Given the description of an element on the screen output the (x, y) to click on. 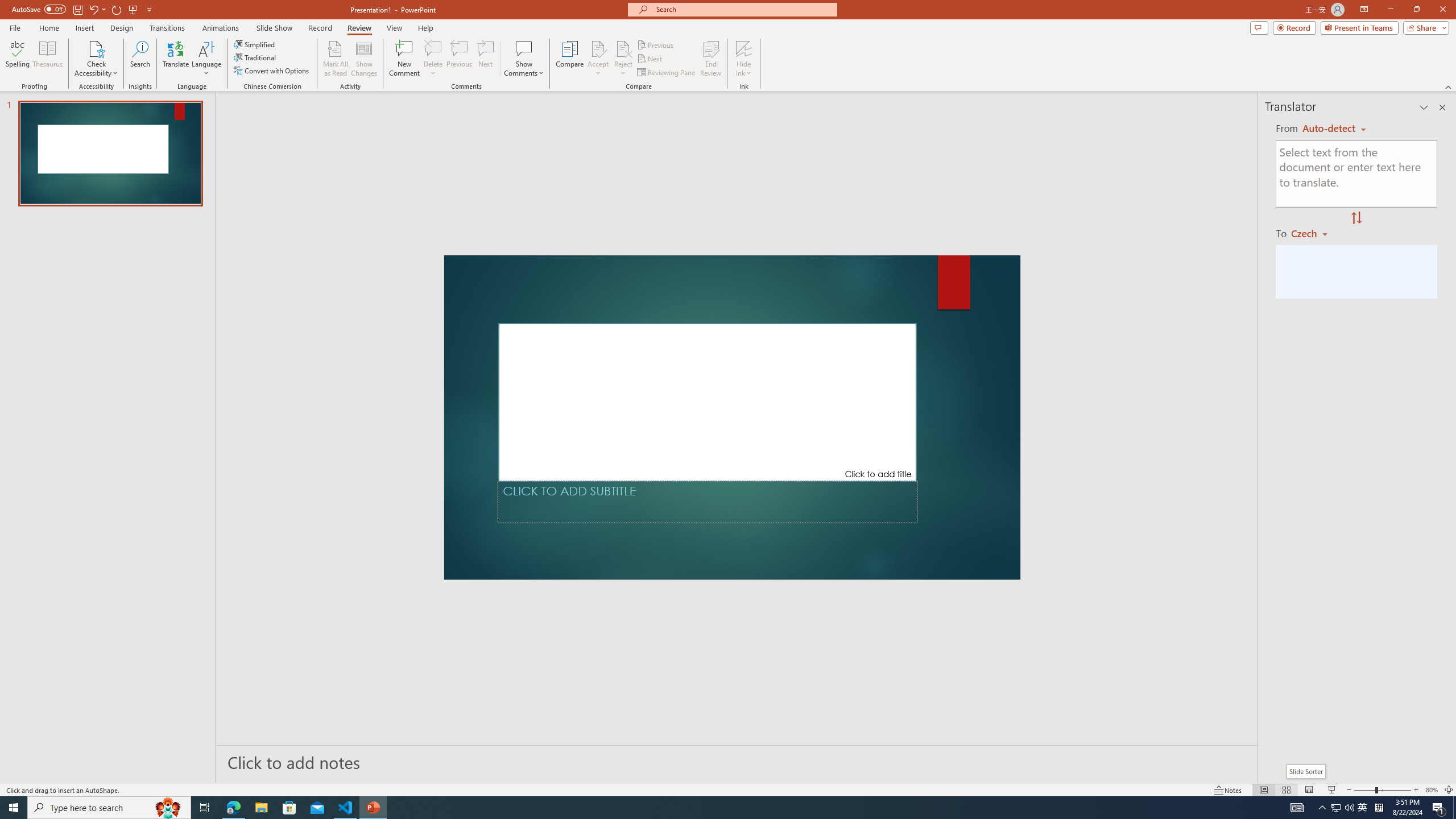
Language (206, 58)
Microsoft search (742, 9)
Previous (655, 44)
Accept (598, 58)
Simplified (254, 44)
Task Pane Options (1423, 107)
